Given the description of an element on the screen output the (x, y) to click on. 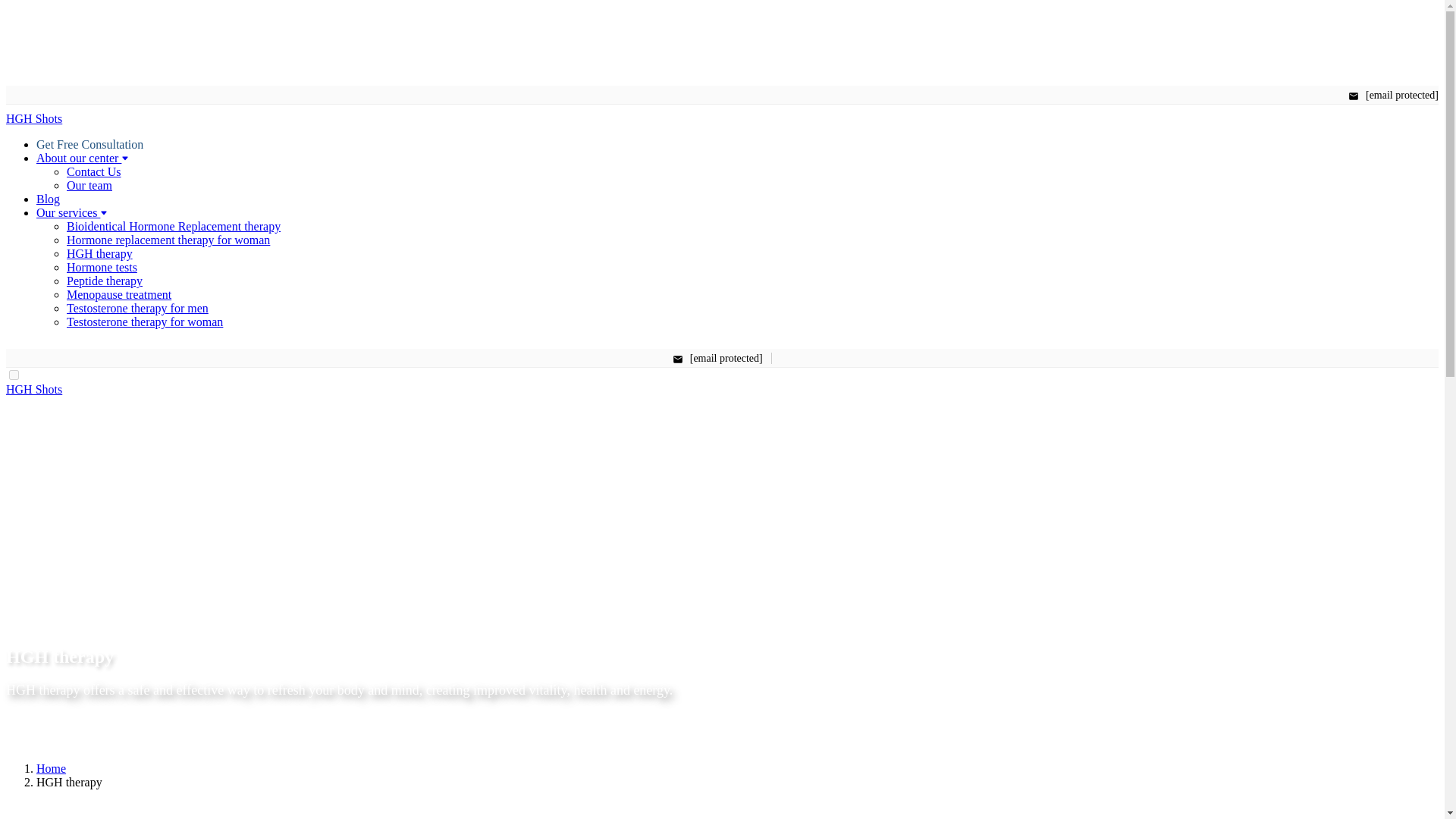
Our team (89, 185)
Menopause treatment (118, 294)
Blog (47, 198)
Testosterone therapy for woman (144, 321)
Get Free Consultation (89, 144)
Peptide therapy (104, 280)
Hormone replacement therapy for woman (167, 239)
HGH therapy (99, 253)
Contact Us (93, 171)
Home (50, 768)
Our services (71, 212)
Bioidentical Hormone Replacement therapy (173, 226)
About our center (82, 157)
on (13, 375)
Testosterone therapy for men (137, 308)
